Given the description of an element on the screen output the (x, y) to click on. 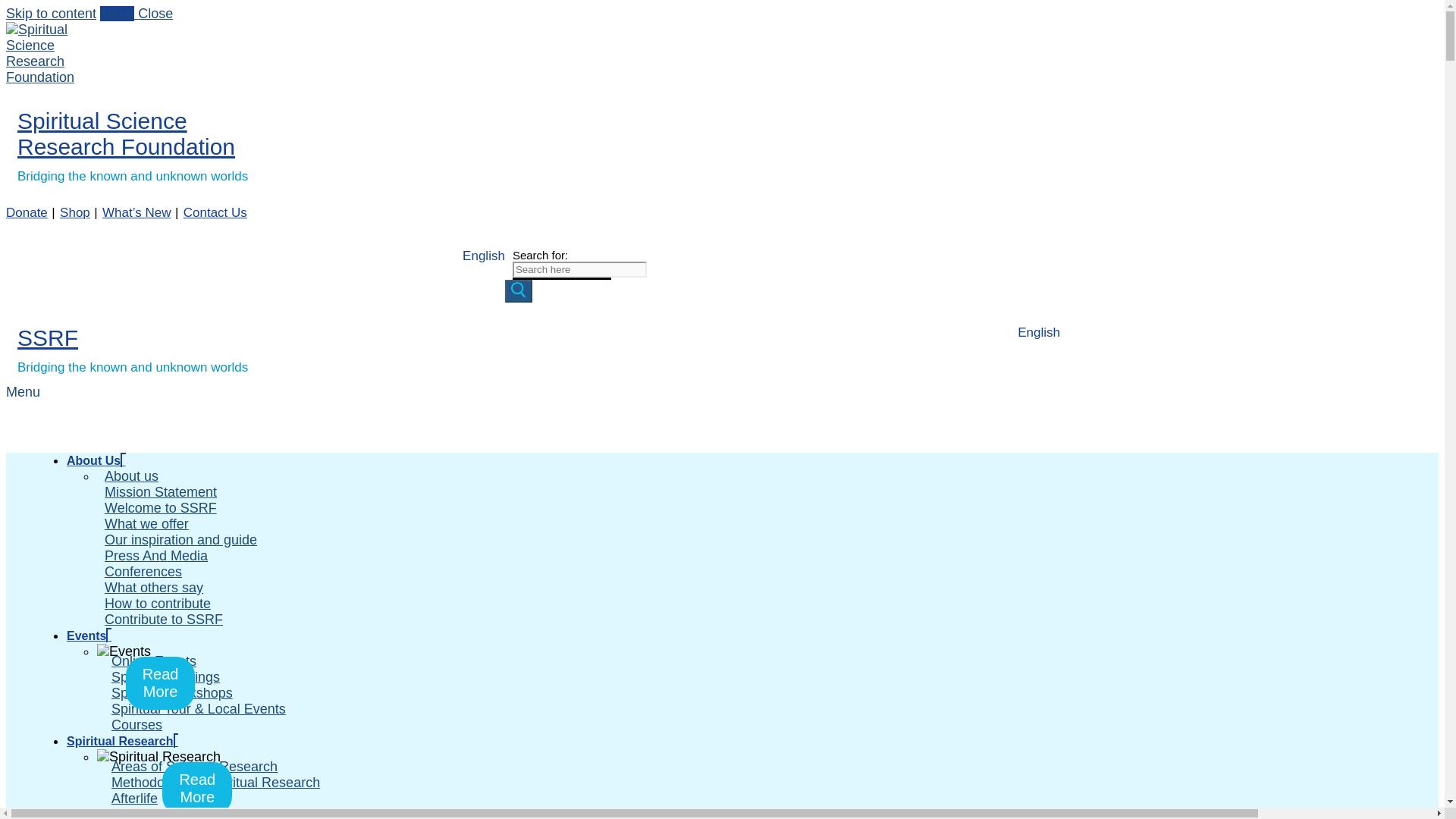
Menu Close (136, 13)
Spiritual Science Research Foundation (125, 133)
Donate (26, 212)
Contact Us (215, 212)
Shop (74, 212)
Skip to content (50, 13)
Search for: (579, 269)
